Given the description of an element on the screen output the (x, y) to click on. 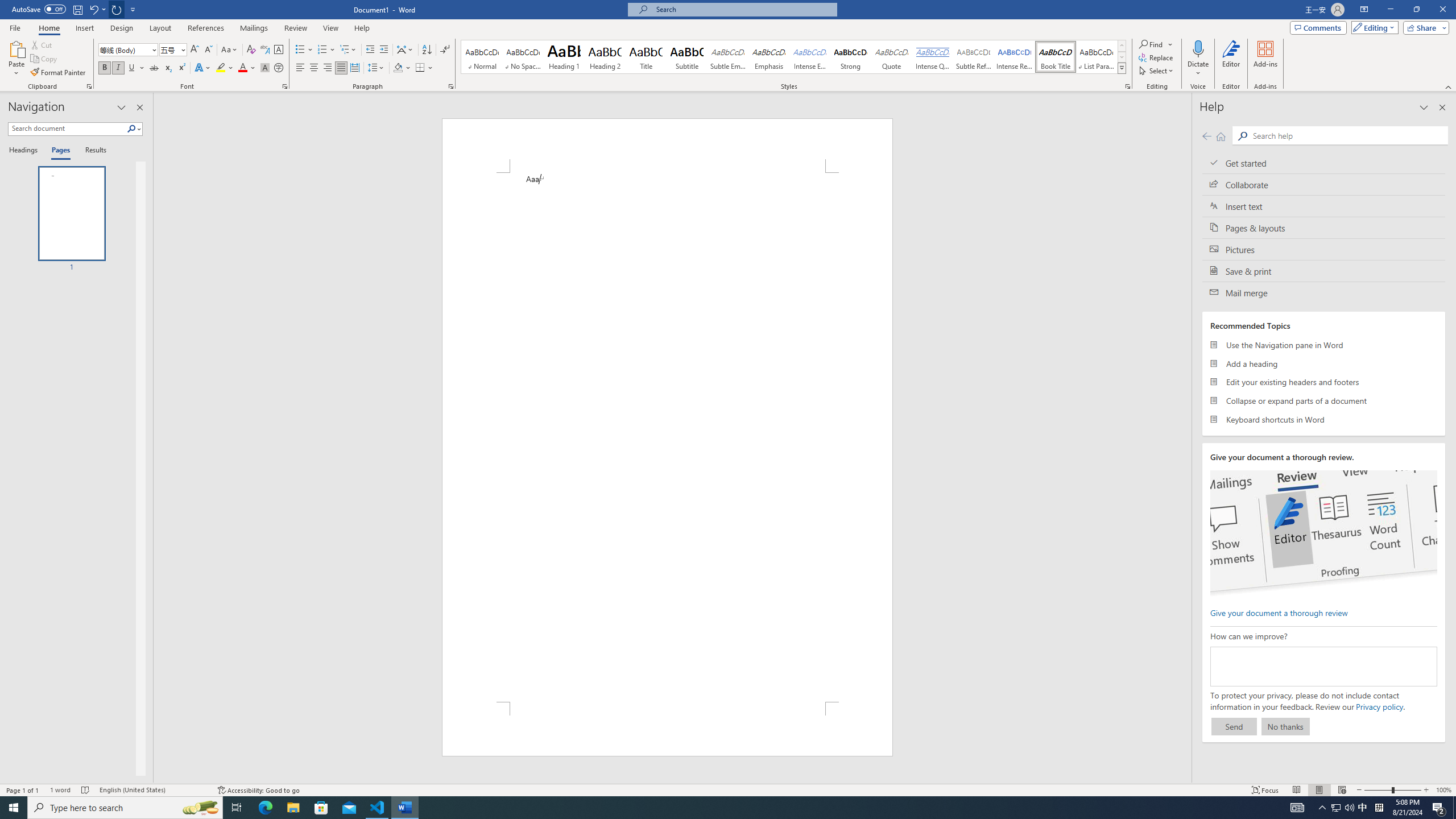
Row up (1121, 45)
References (205, 28)
Search (133, 128)
Insert (83, 28)
Shading (402, 67)
Privacy policy (1379, 706)
Undo Style (96, 9)
Share (1423, 27)
Emphasis (768, 56)
Send (1233, 726)
editor ui screenshot (1323, 533)
Collapse the Ribbon (1448, 86)
Bullets (304, 49)
Open (182, 49)
